Given the description of an element on the screen output the (x, y) to click on. 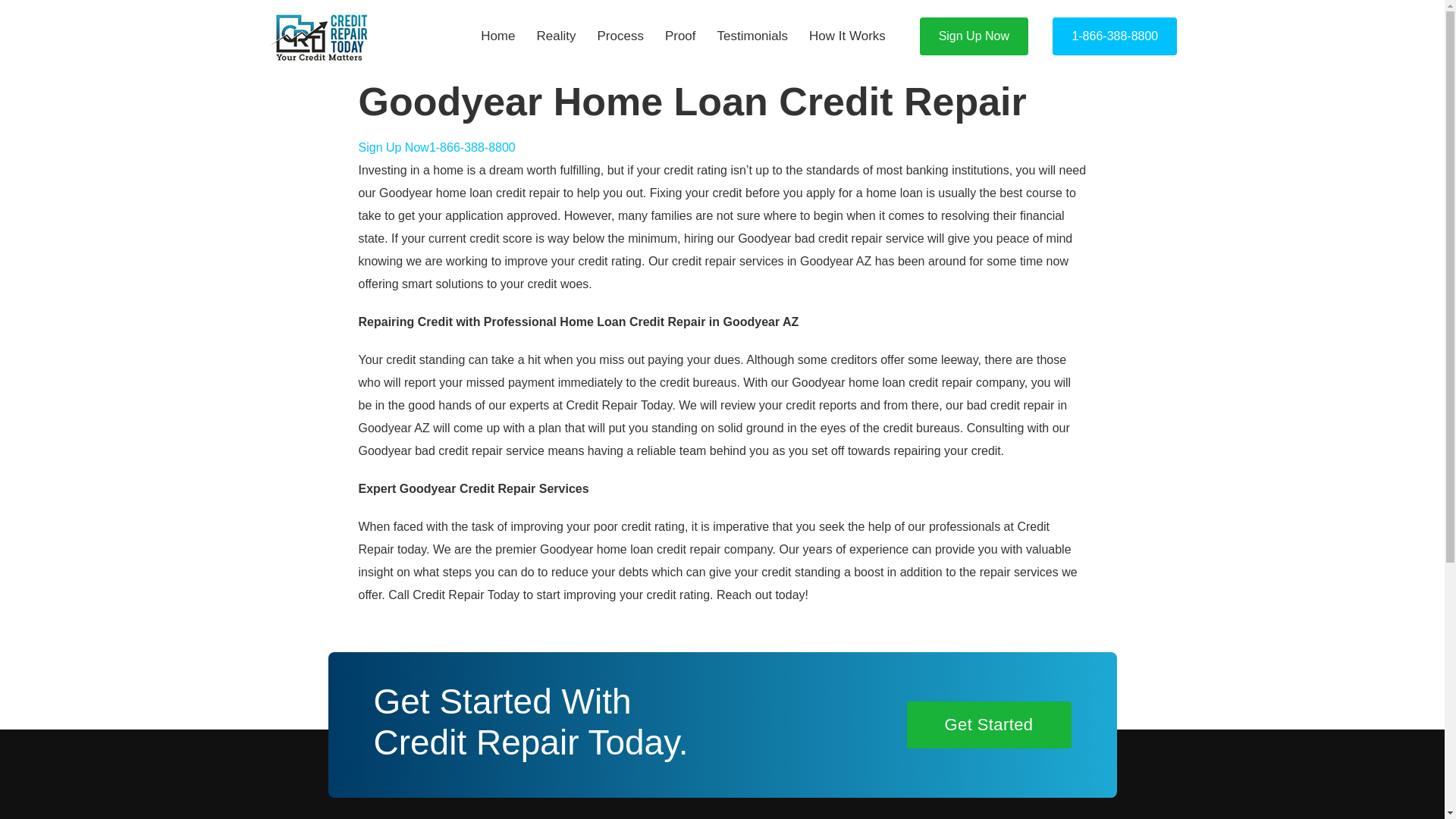
Get Started (989, 724)
Testimonials (752, 36)
Reality (555, 36)
Sign Up Now (973, 36)
Proof (679, 36)
Sign Up Now (393, 146)
Home (497, 36)
How It Works (846, 36)
Process (619, 36)
1-866-388-8800 (1114, 36)
1-866-388-8800 (472, 146)
